Given the description of an element on the screen output the (x, y) to click on. 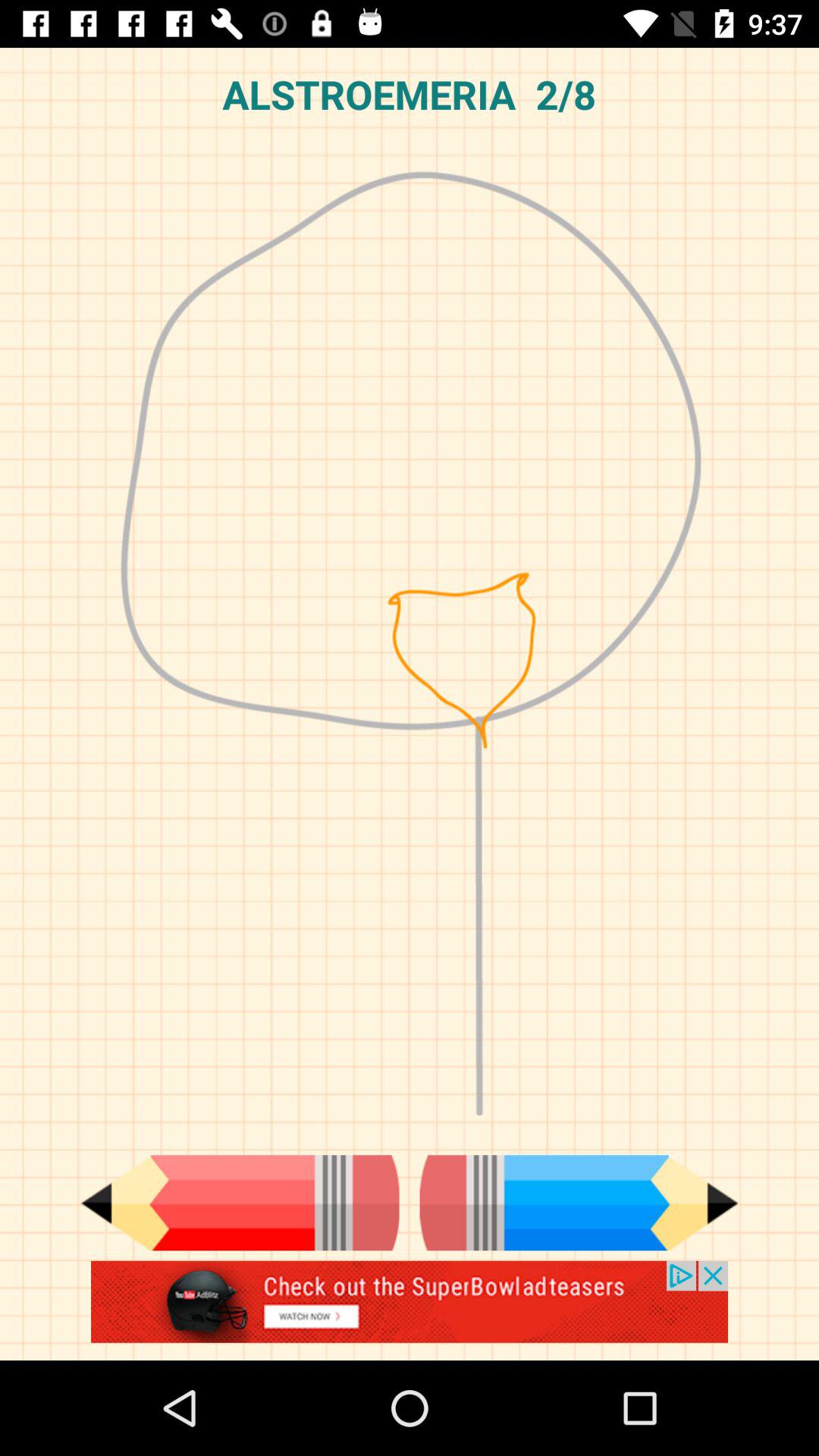
write with orange (239, 1202)
